Given the description of an element on the screen output the (x, y) to click on. 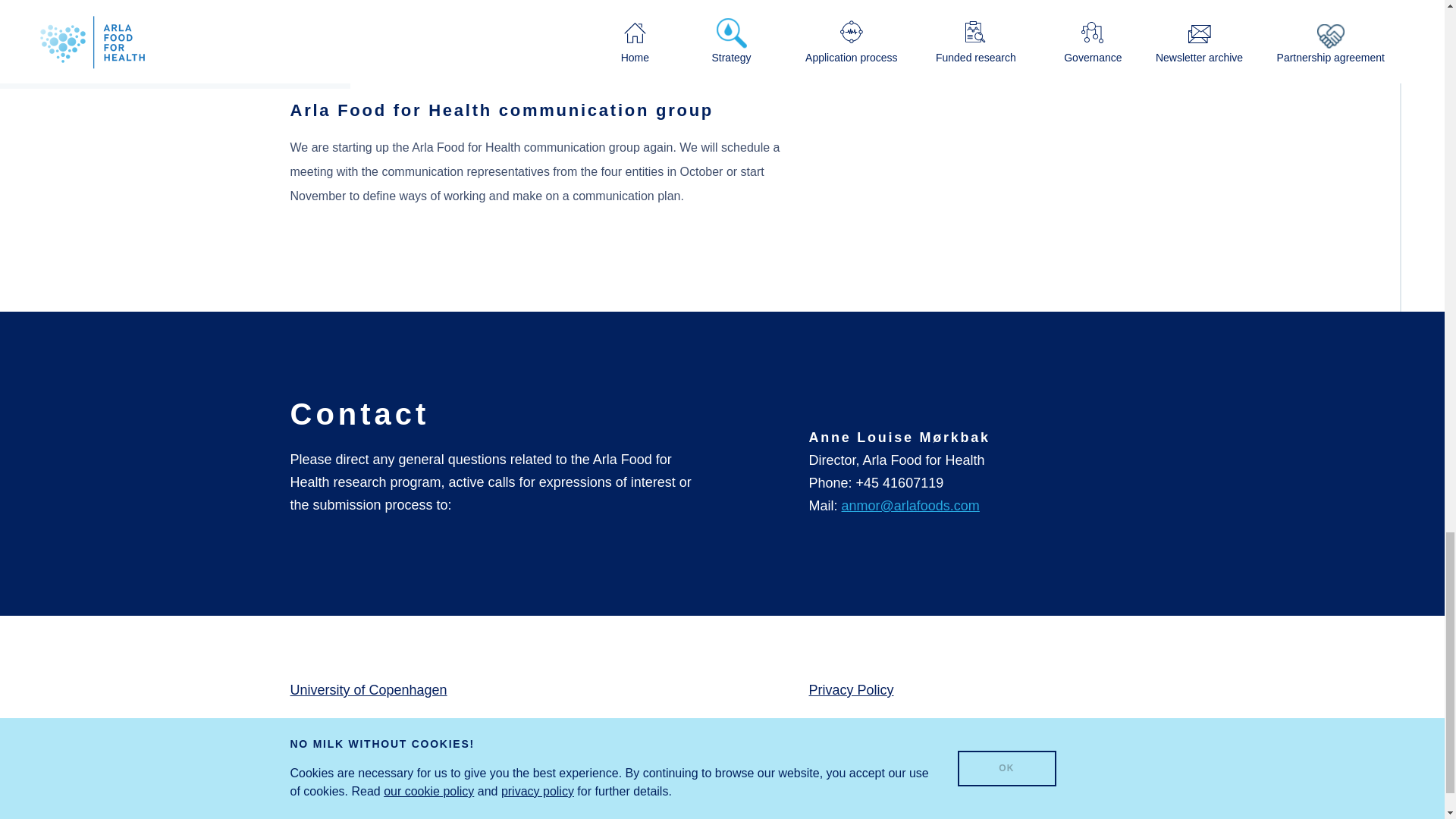
Arlafoodingeadients.com (364, 803)
Privacy Policy (850, 689)
University of Copenhagen (367, 689)
Arla.com (316, 765)
Cookie Policy (849, 727)
Aarhus University (342, 727)
